Given the description of an element on the screen output the (x, y) to click on. 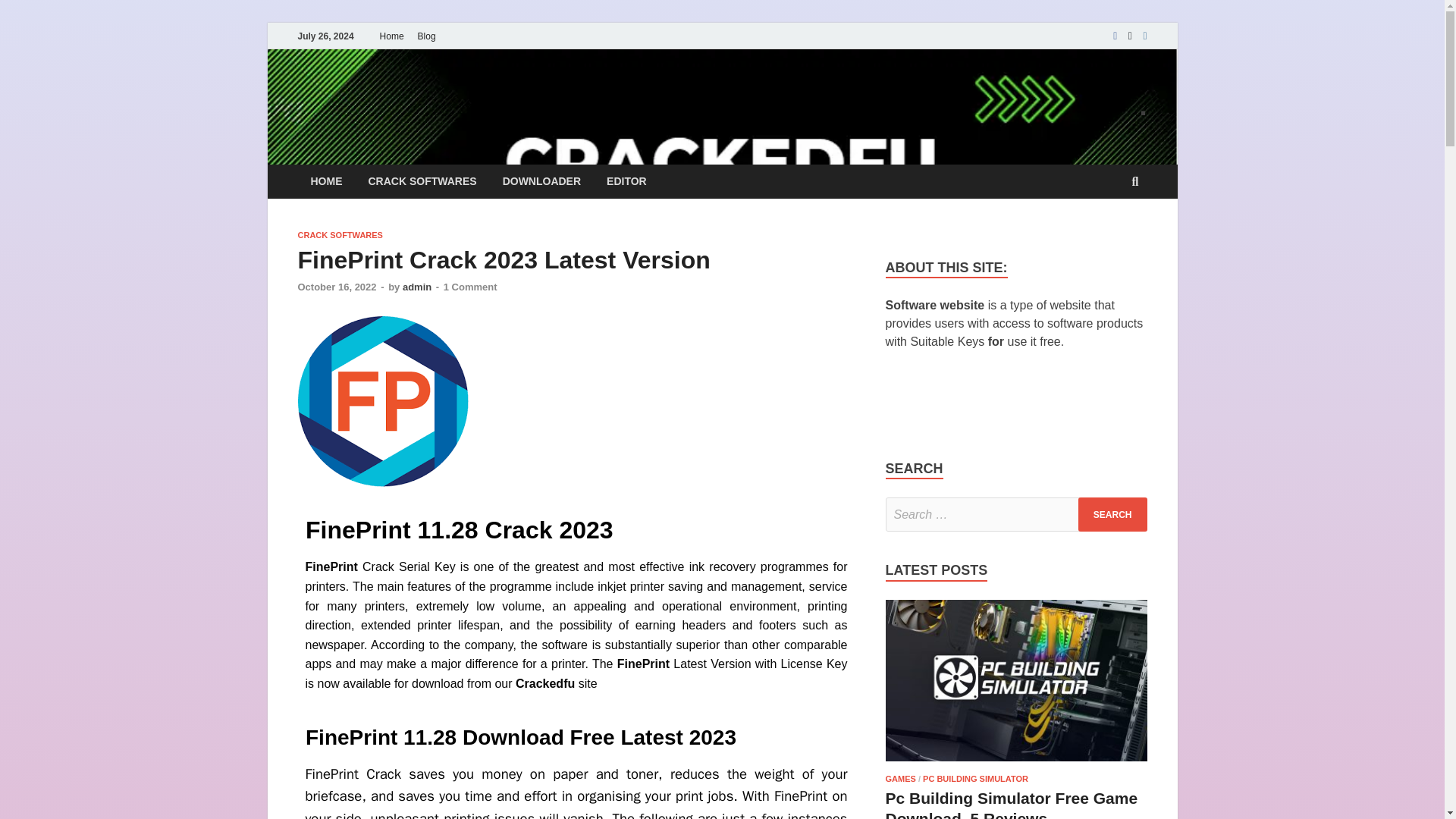
Pc Building Simulator Free Game Download, 5 Reviews (1016, 764)
Search (1112, 514)
October 16, 2022 (336, 286)
1 Comment (470, 286)
Cracked FU (384, 100)
CRACK SOFTWARES (339, 234)
CRACK SOFTWARES (422, 181)
Blog (426, 35)
admin (416, 286)
DOWNLOADER (541, 181)
HOME (326, 181)
EDITOR (626, 181)
Home (391, 35)
Search (1112, 514)
